Given the description of an element on the screen output the (x, y) to click on. 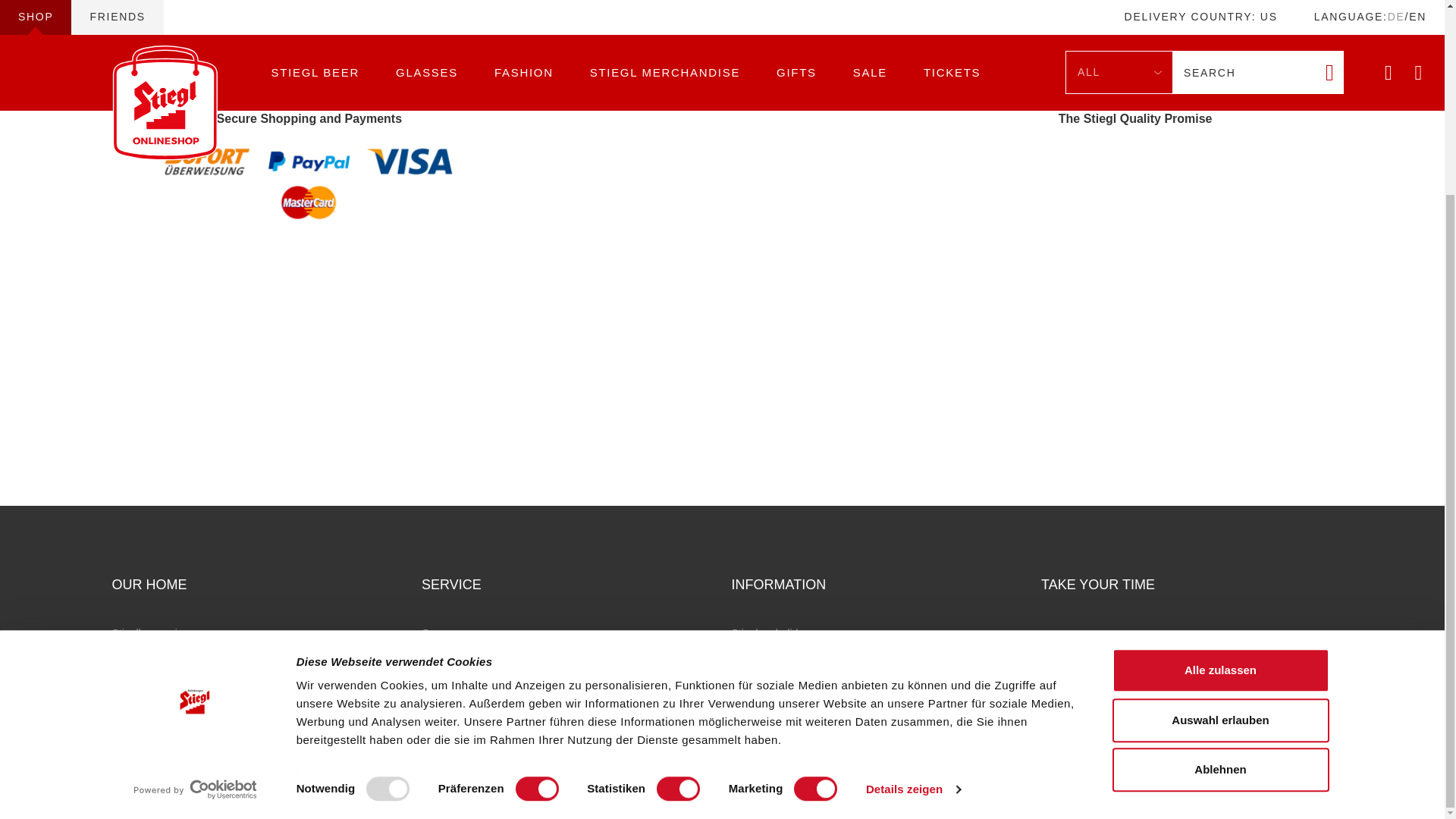
Details zeigen (913, 544)
